Given the description of an element on the screen output the (x, y) to click on. 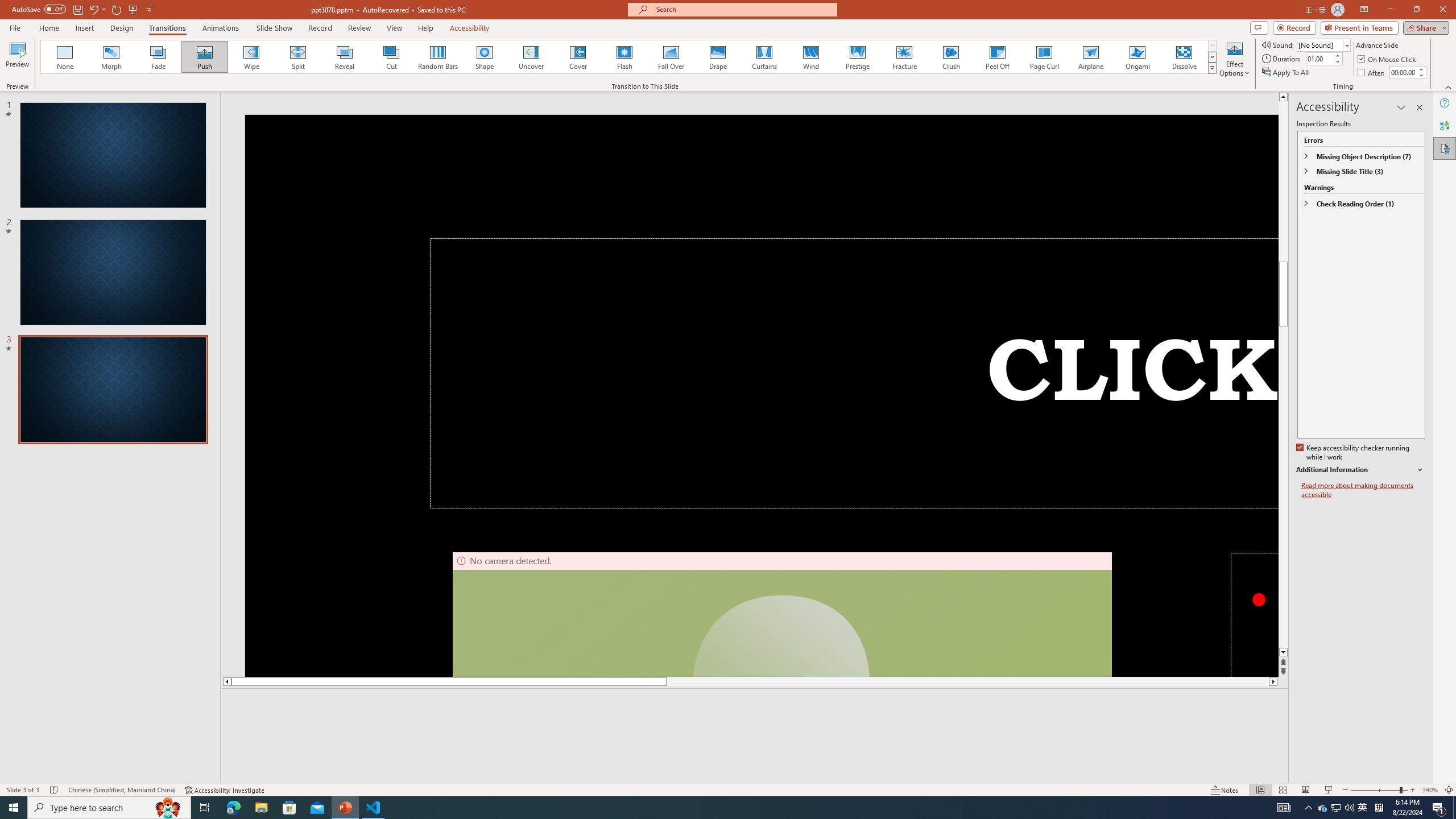
Peel Off (997, 56)
Less (1420, 75)
Wind (810, 56)
On Mouse Click (1387, 58)
AutomationID: AnimationTransitionGallery (628, 56)
Split (298, 56)
Curtains (764, 56)
Drape (717, 56)
